Given the description of an element on the screen output the (x, y) to click on. 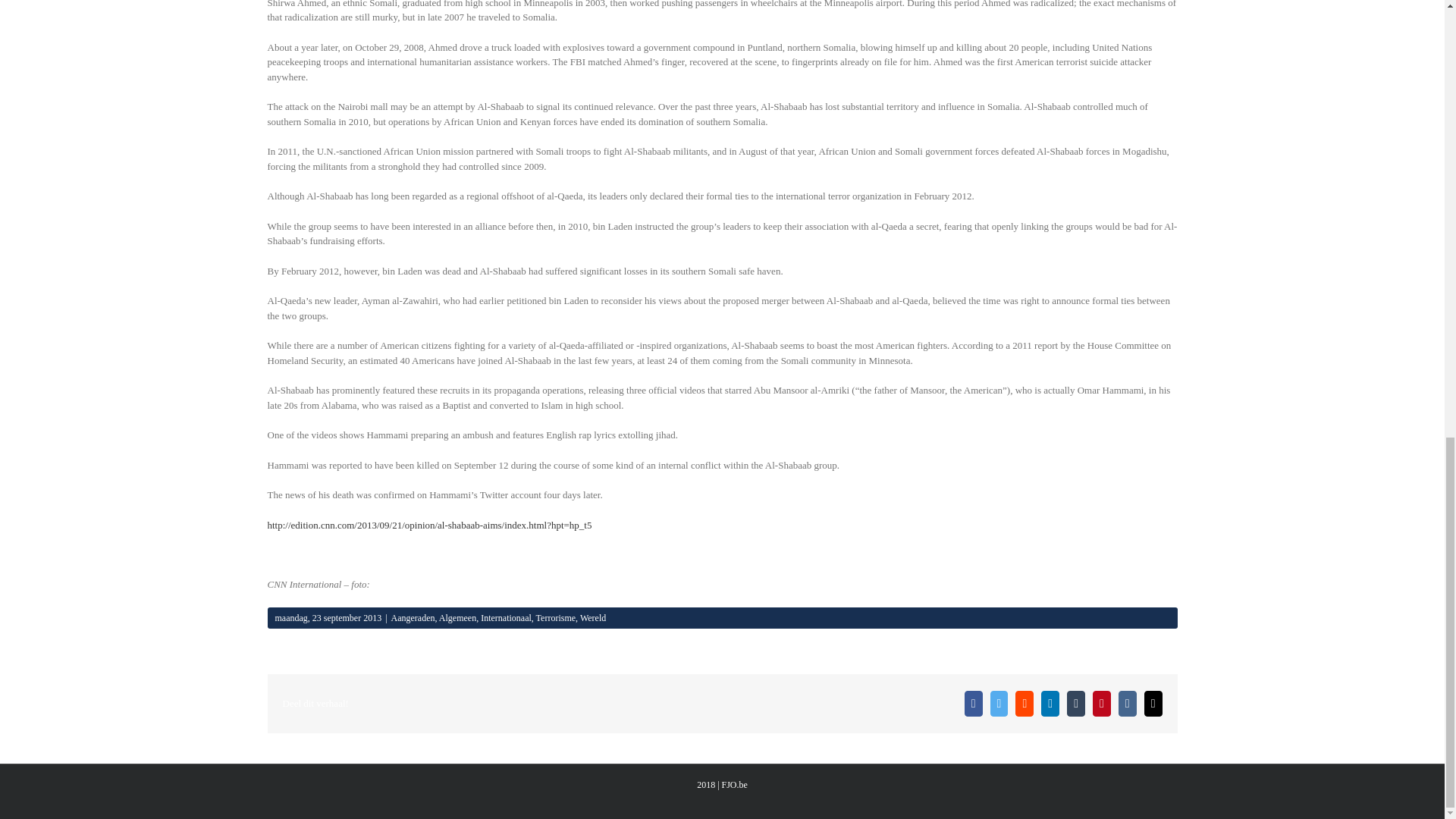
Algemeen (457, 617)
Aangeraden (413, 617)
